Given the description of an element on the screen output the (x, y) to click on. 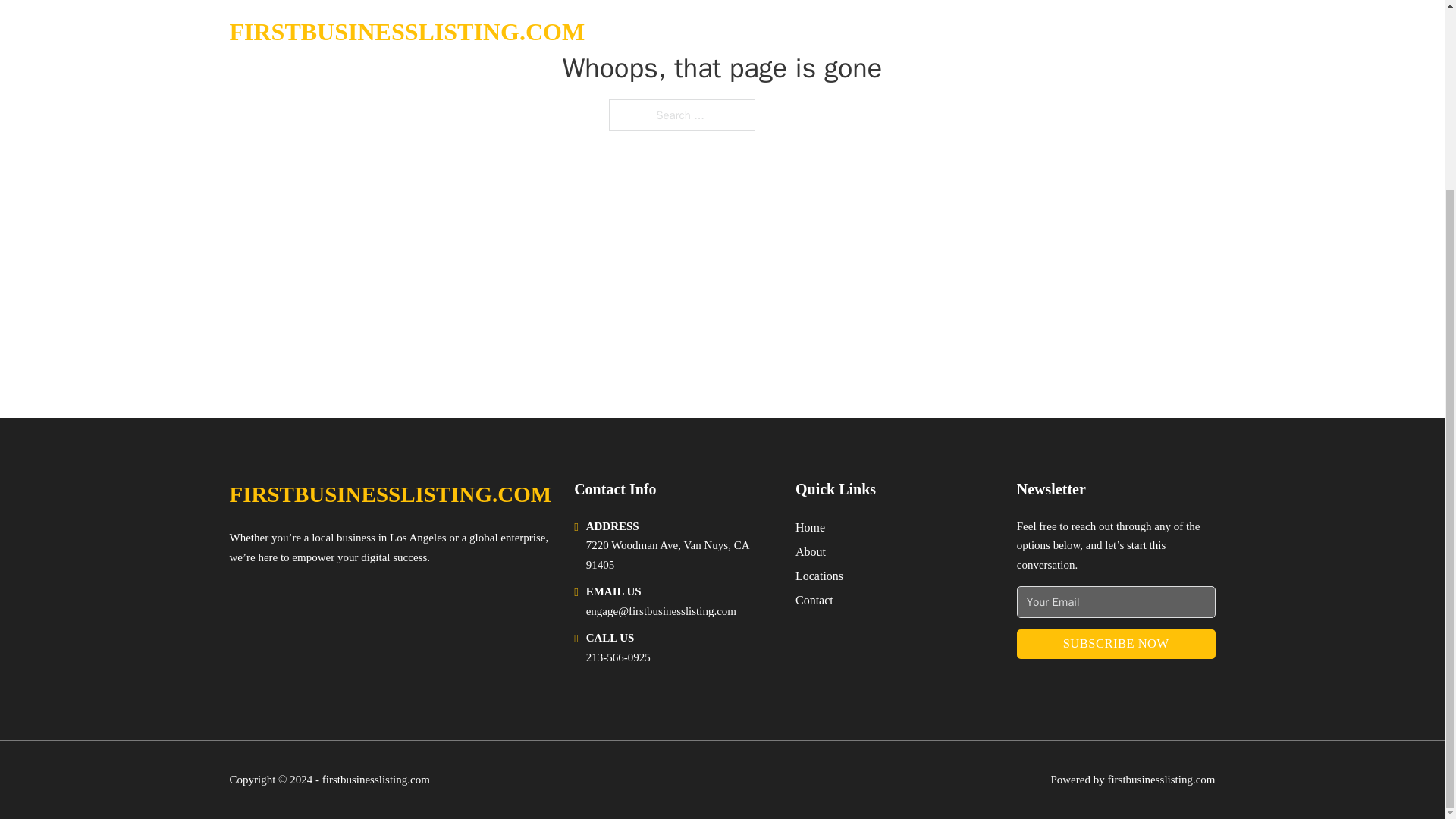
213-566-0925 (618, 657)
Home (809, 526)
About (809, 551)
SUBSCRIBE NOW (1115, 644)
Contact (813, 599)
FIRSTBUSINESSLISTING.COM (389, 494)
Locations (818, 575)
